Given the description of an element on the screen output the (x, y) to click on. 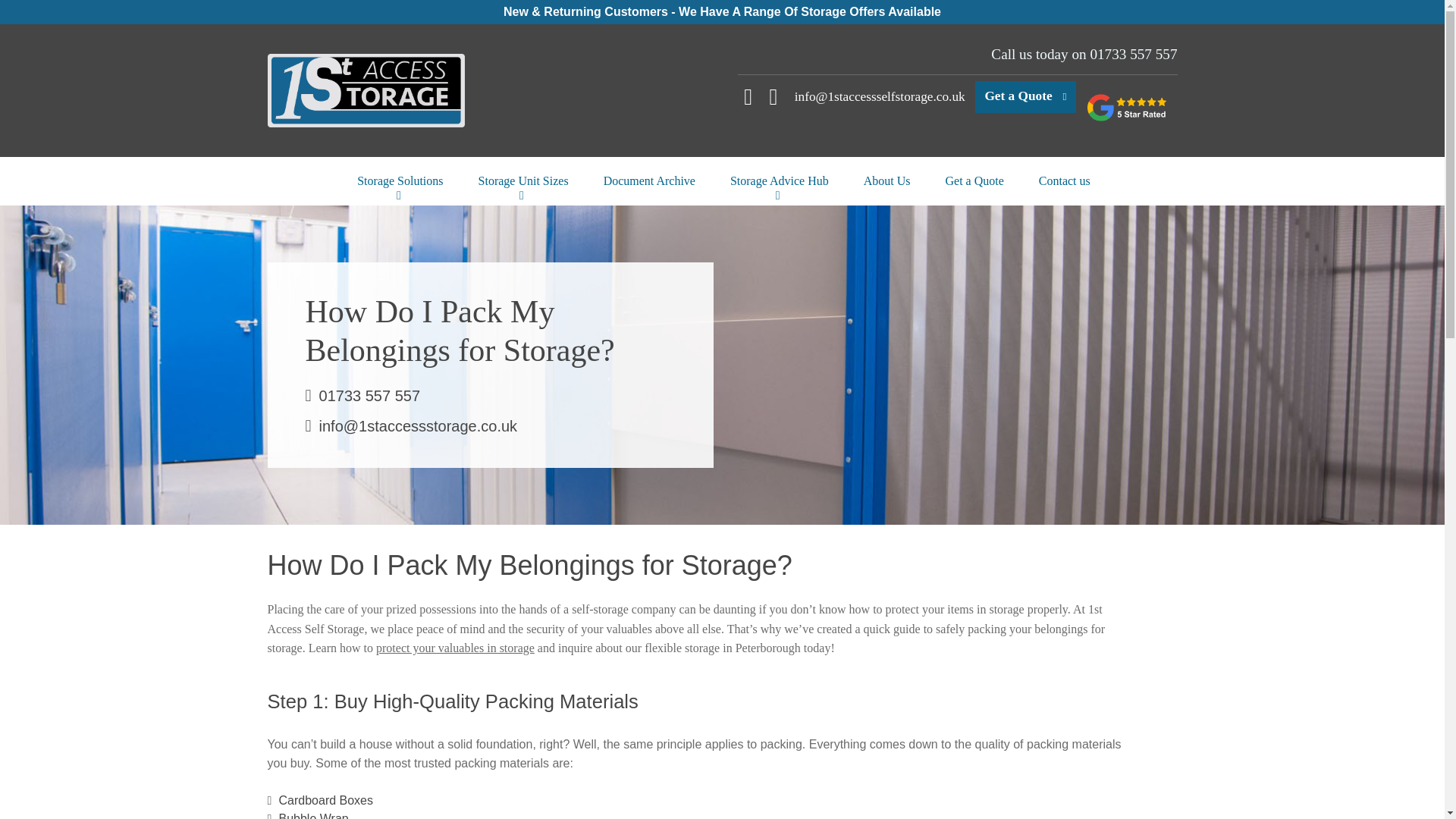
01733 557 557 (1132, 53)
